Given the description of an element on the screen output the (x, y) to click on. 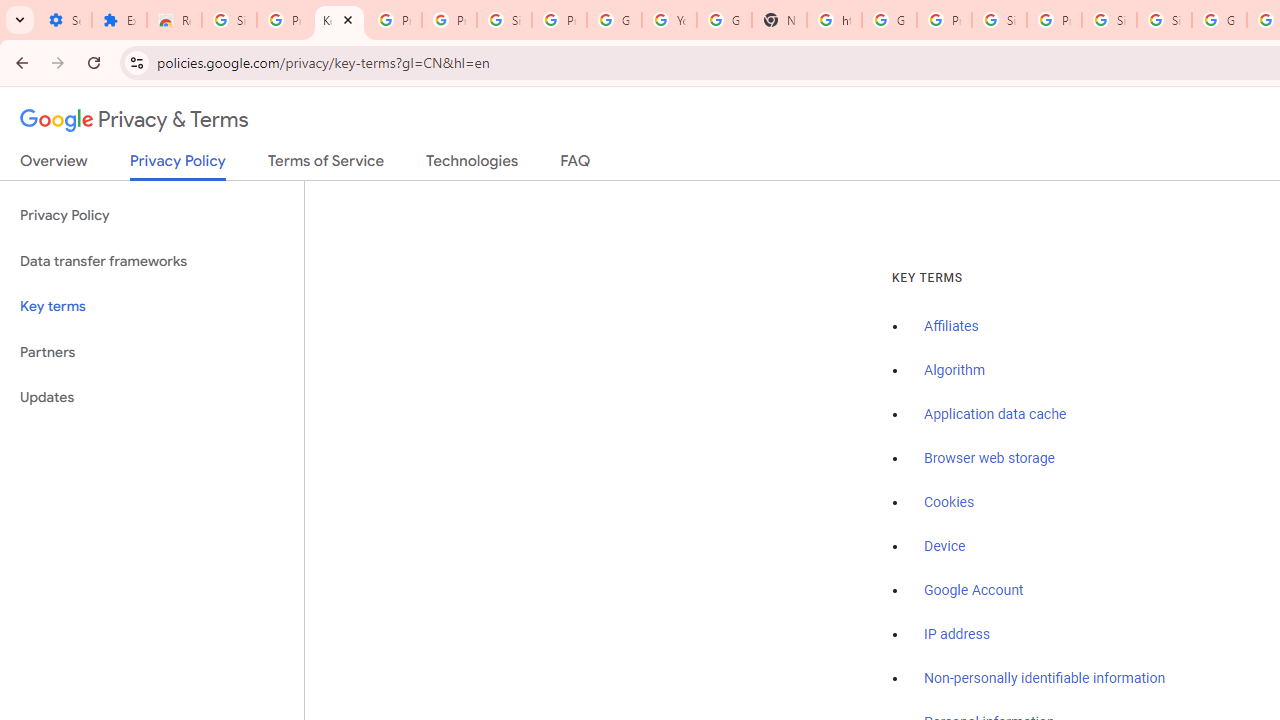
Sign in - Google Accounts (1163, 20)
Affiliates (951, 327)
IP address (956, 634)
Cookies (949, 502)
Application data cache (995, 415)
Data transfer frameworks (152, 261)
Partners (152, 352)
